Given the description of an element on the screen output the (x, y) to click on. 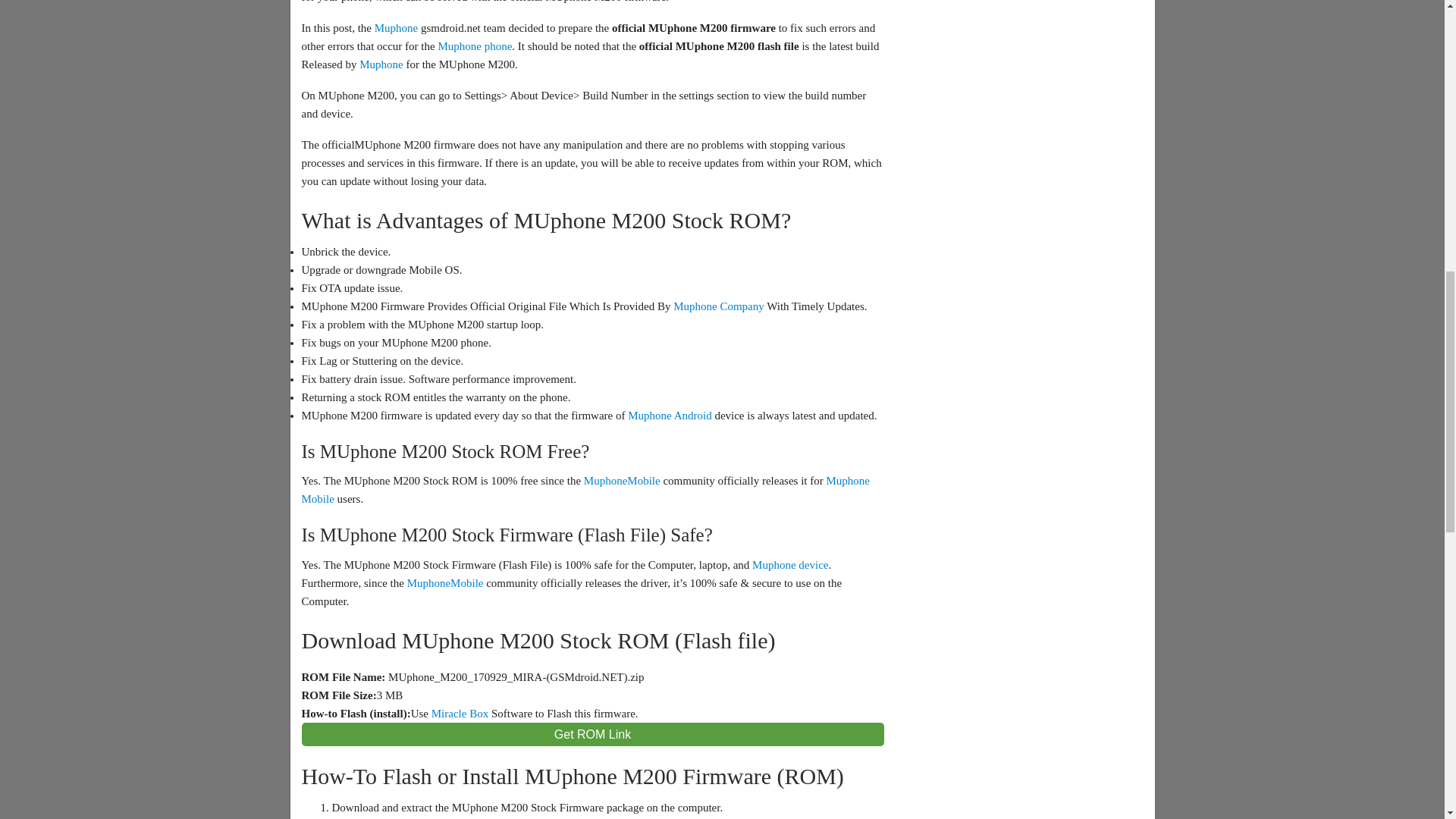
Muphone Company (718, 306)
Muphone Mobile (585, 490)
Miracle Box (458, 713)
Muphone Android (669, 415)
MuphoneMobile (445, 582)
Muphone phone (475, 46)
Muphone (396, 28)
Muphone device (790, 564)
MuphoneMobile (622, 480)
Get ROM Link (592, 734)
Muphone (381, 64)
